Given the description of an element on the screen output the (x, y) to click on. 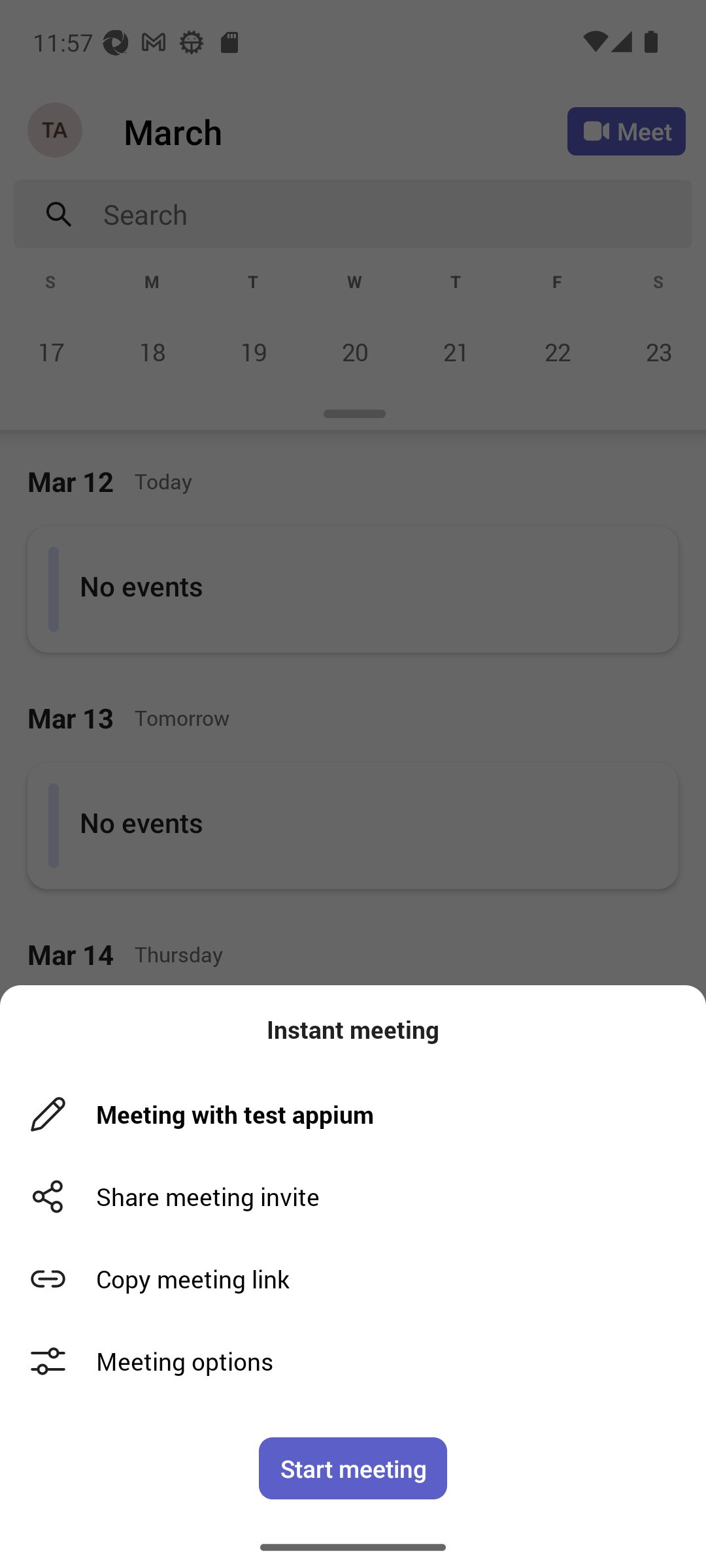
Meeting with test appium (359, 1114)
Share meeting invite (353, 1196)
Copy meeting link (353, 1279)
Meeting options (353, 1361)
Start meeting (352, 1468)
